Given the description of an element on the screen output the (x, y) to click on. 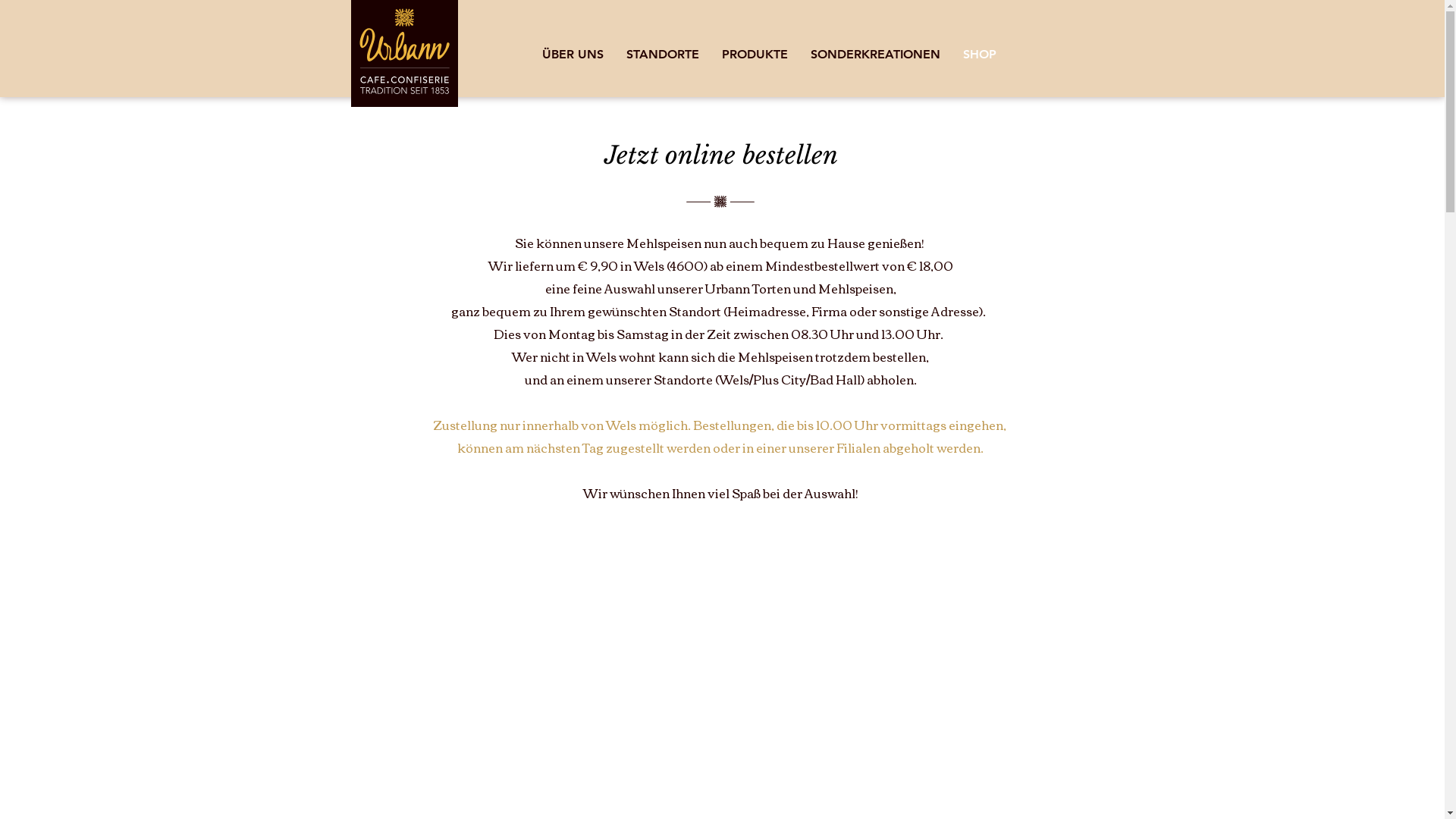
SHOP Element type: text (978, 54)
PRODUKTE Element type: text (753, 54)
